Given the description of an element on the screen output the (x, y) to click on. 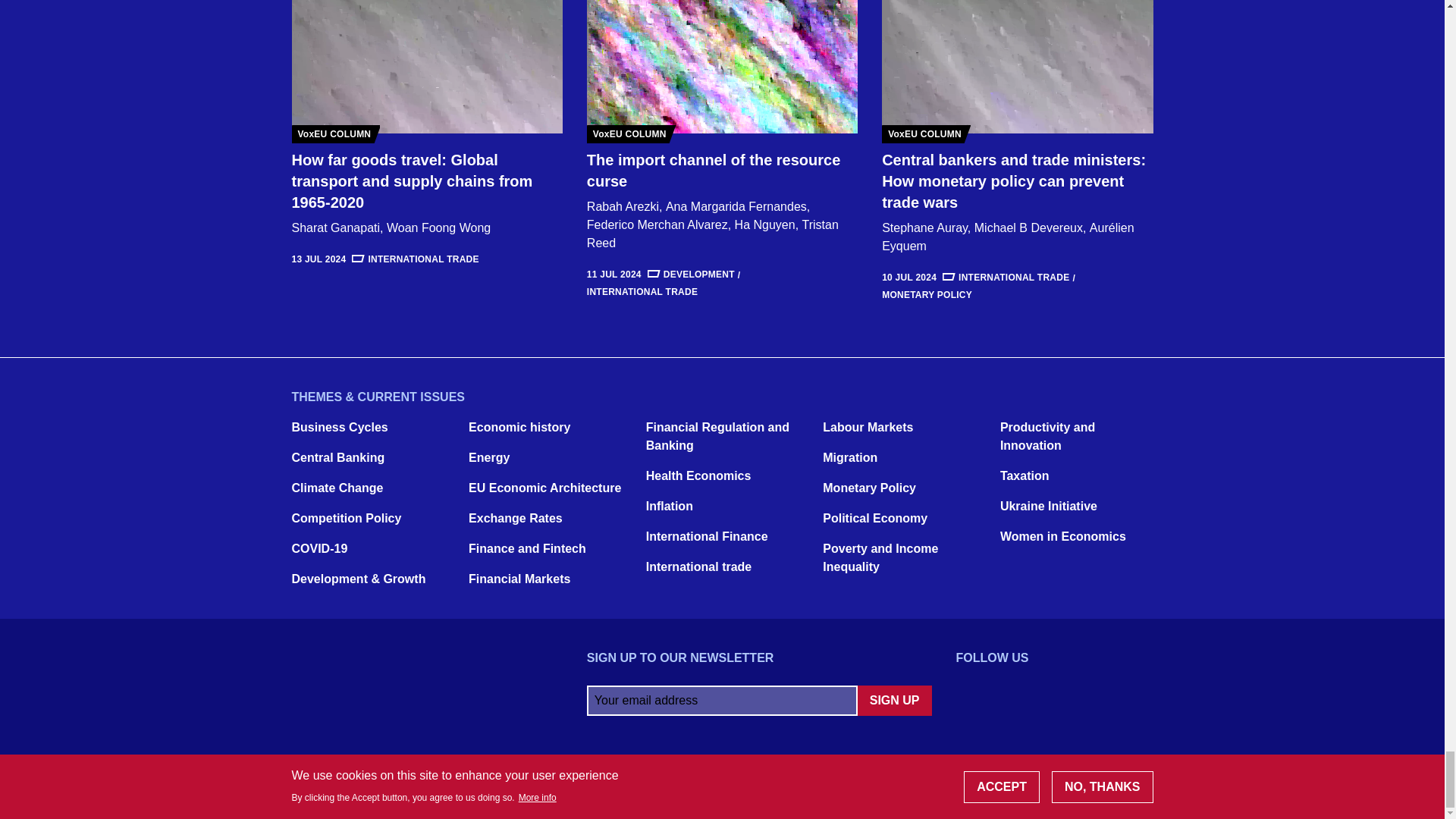
sign up (894, 700)
